Given the description of an element on the screen output the (x, y) to click on. 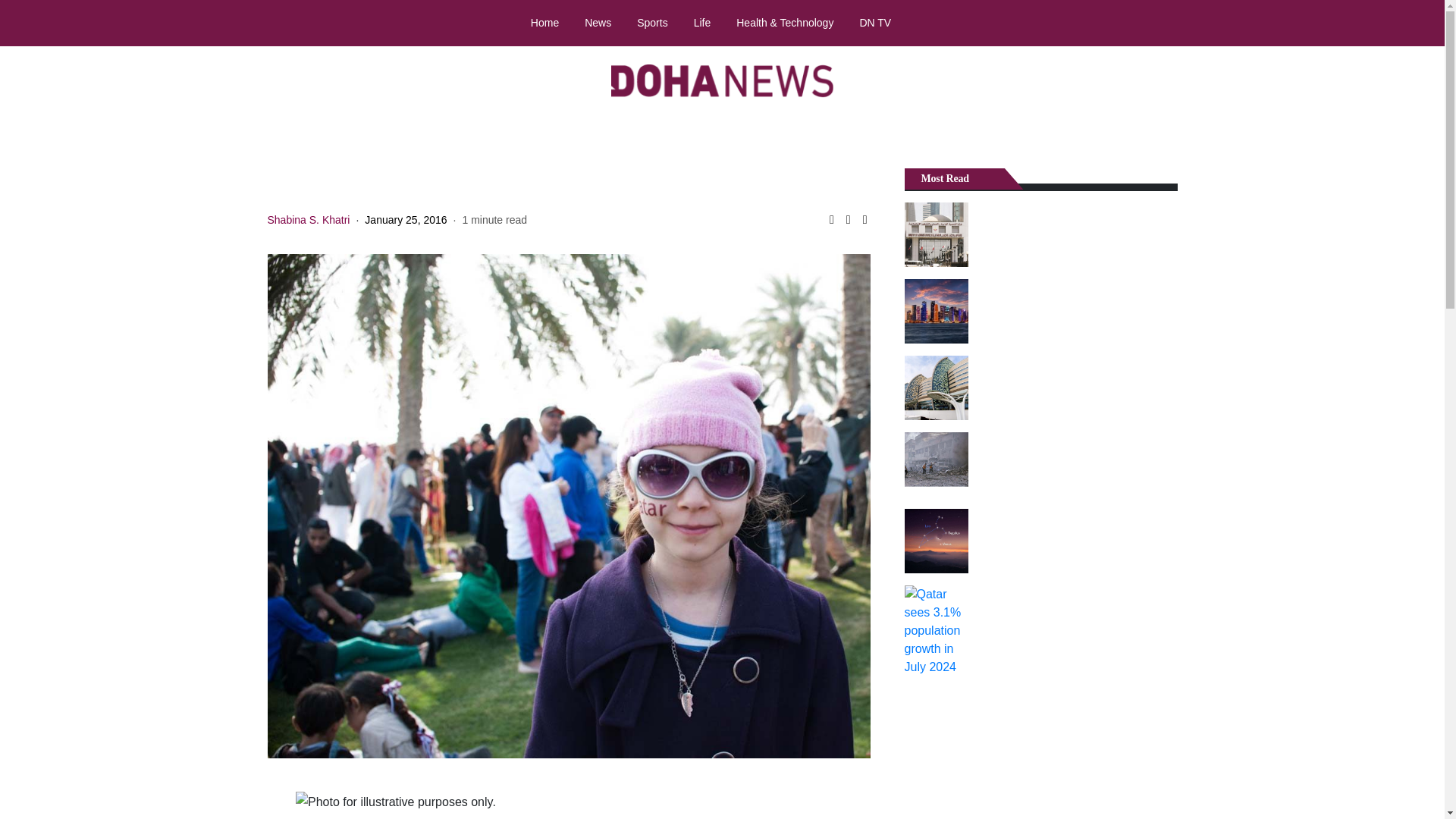
Life (702, 22)
DN TV (875, 22)
View all posts by Shabina S. Khatri (307, 219)
Search (1417, 23)
Home (545, 22)
January 25, 2016 (405, 219)
News (598, 22)
Sports (651, 22)
Shabina S. Khatri (307, 219)
